Given the description of an element on the screen output the (x, y) to click on. 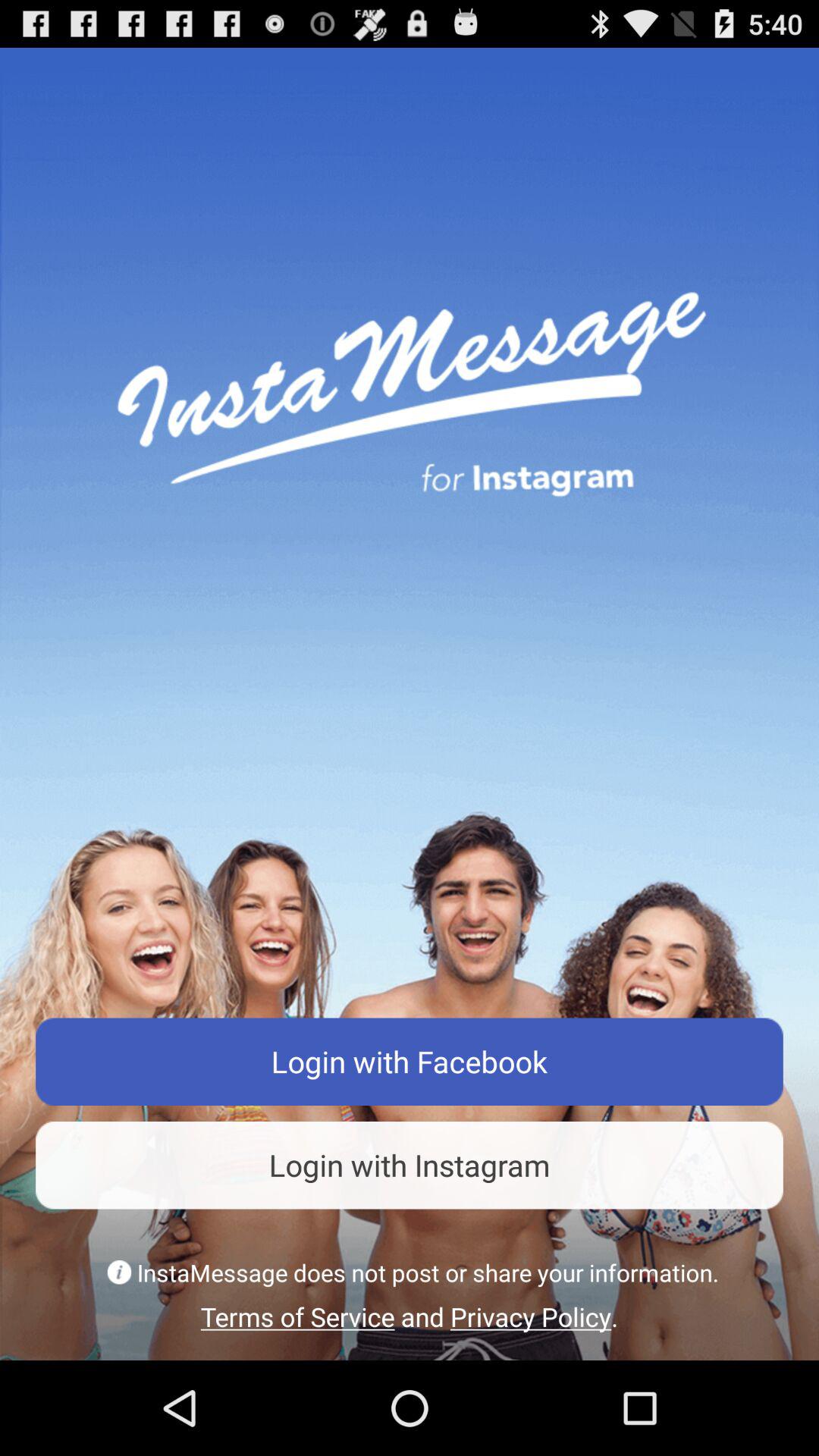
open the terms of service item (409, 1316)
